Given the description of an element on the screen output the (x, y) to click on. 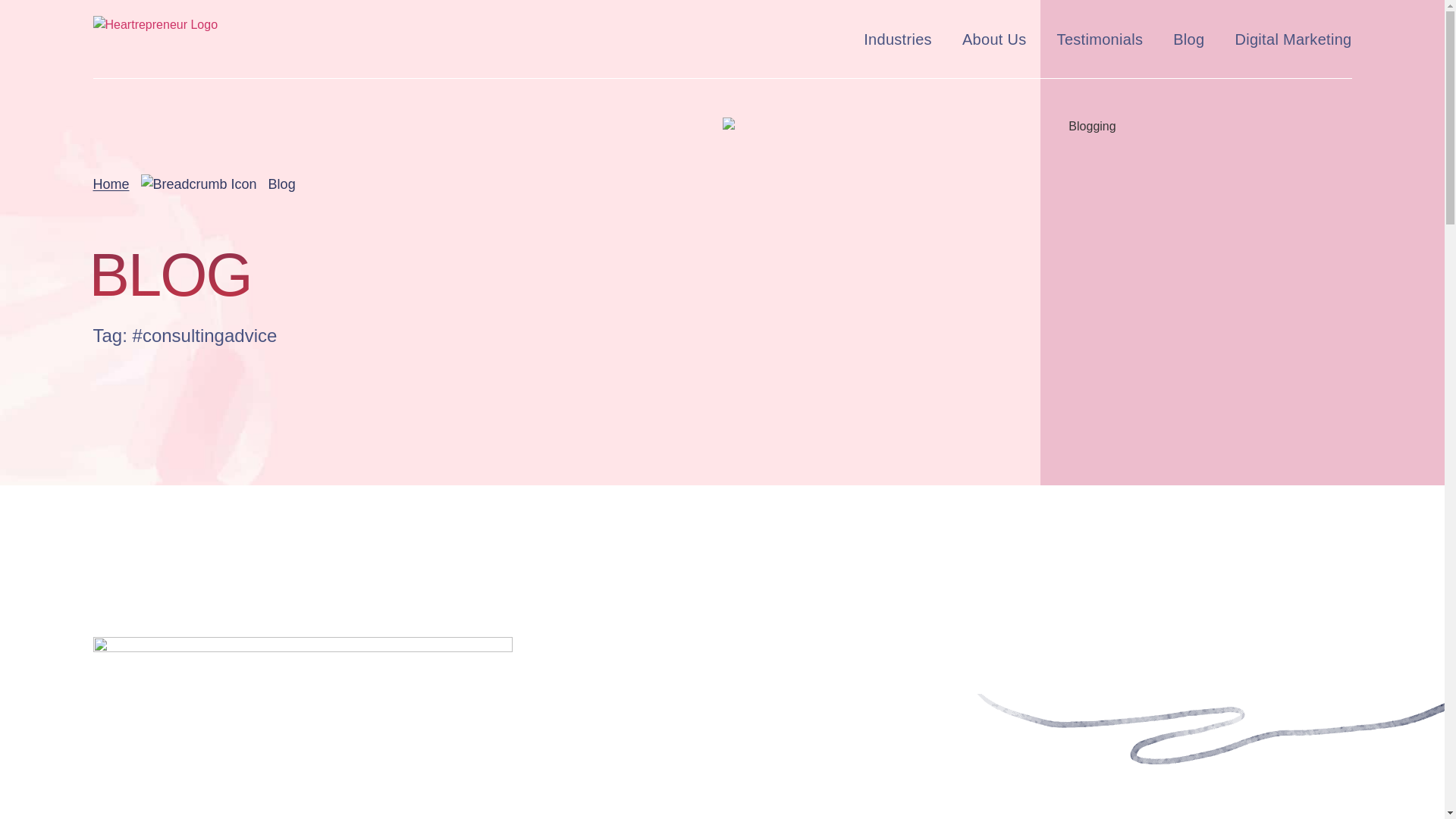
Home (111, 183)
Blog (1188, 39)
Digital Marketing (1292, 39)
Industries (897, 39)
Testimonials (1099, 39)
About Us (994, 39)
